Given the description of an element on the screen output the (x, y) to click on. 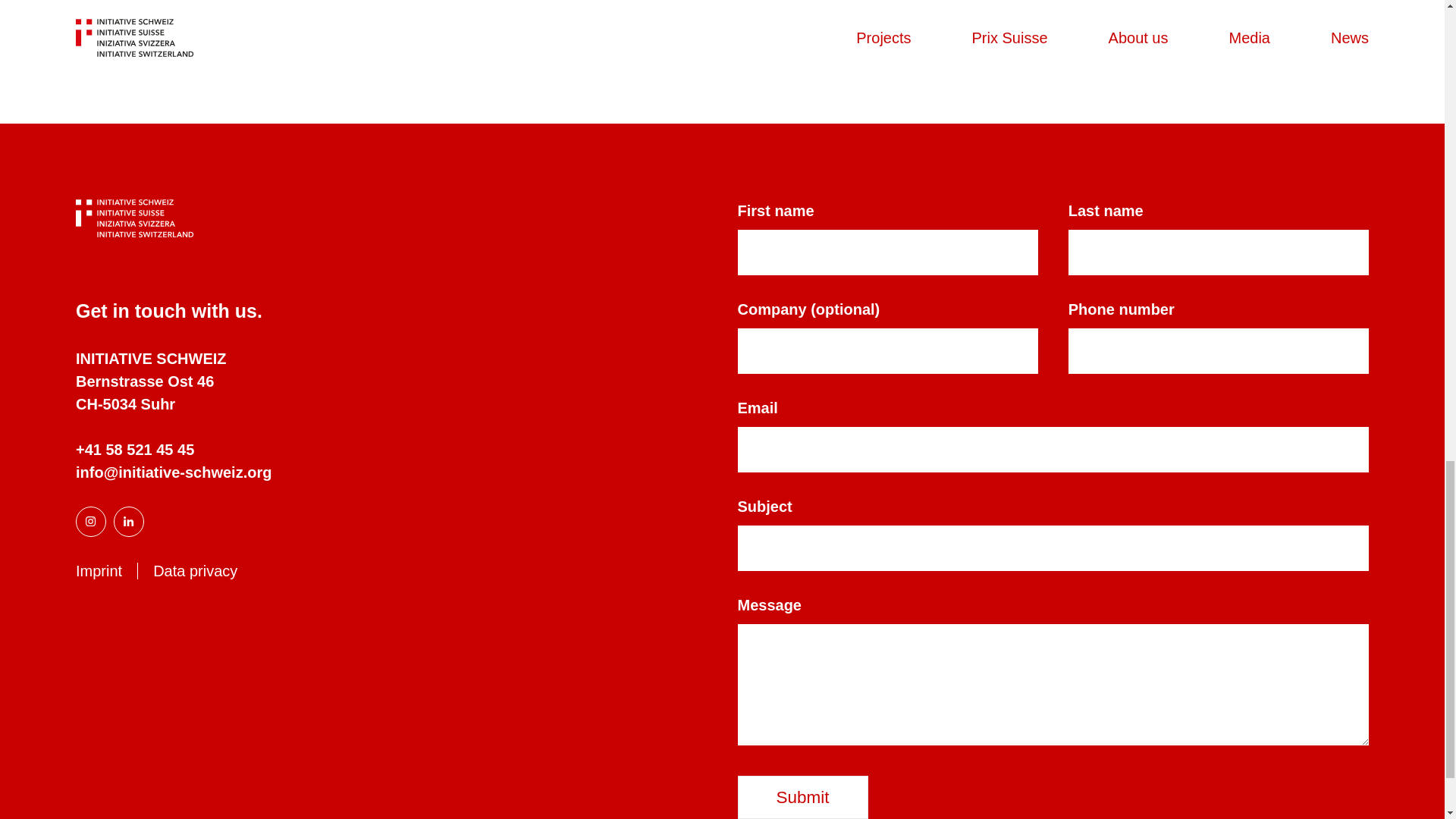
Data privacy (194, 570)
Imprint (99, 570)
